Given the description of an element on the screen output the (x, y) to click on. 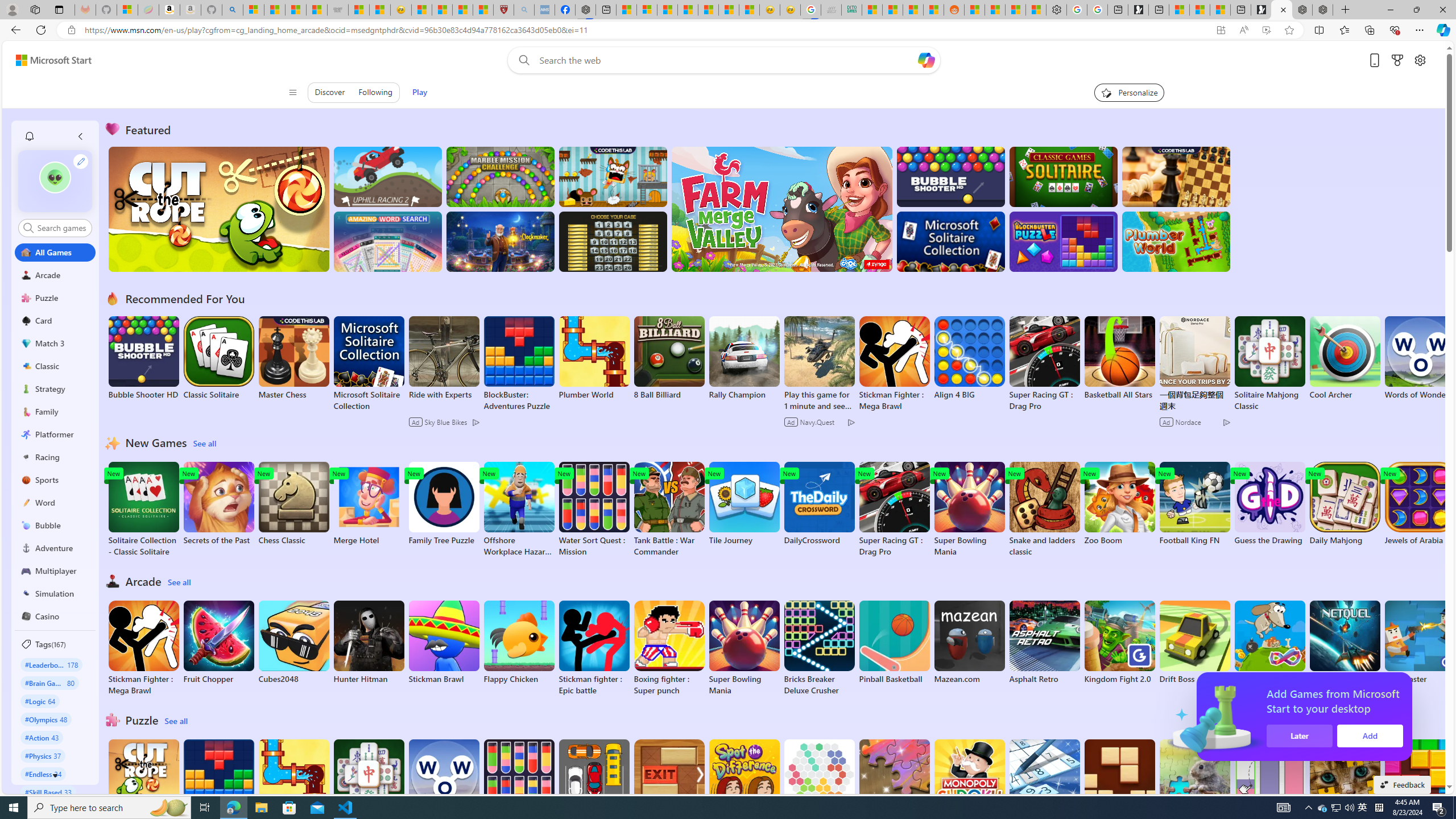
Flappy Chicken (518, 642)
""'s avatar (54, 180)
Mazean.com (968, 642)
Stickman fighter : Epic battle (593, 648)
#Brain Games 80 (49, 682)
Class: arrow-bottom button-default-style-remove (55, 775)
Amazing Word Search (387, 241)
